Given the description of an element on the screen output the (x, y) to click on. 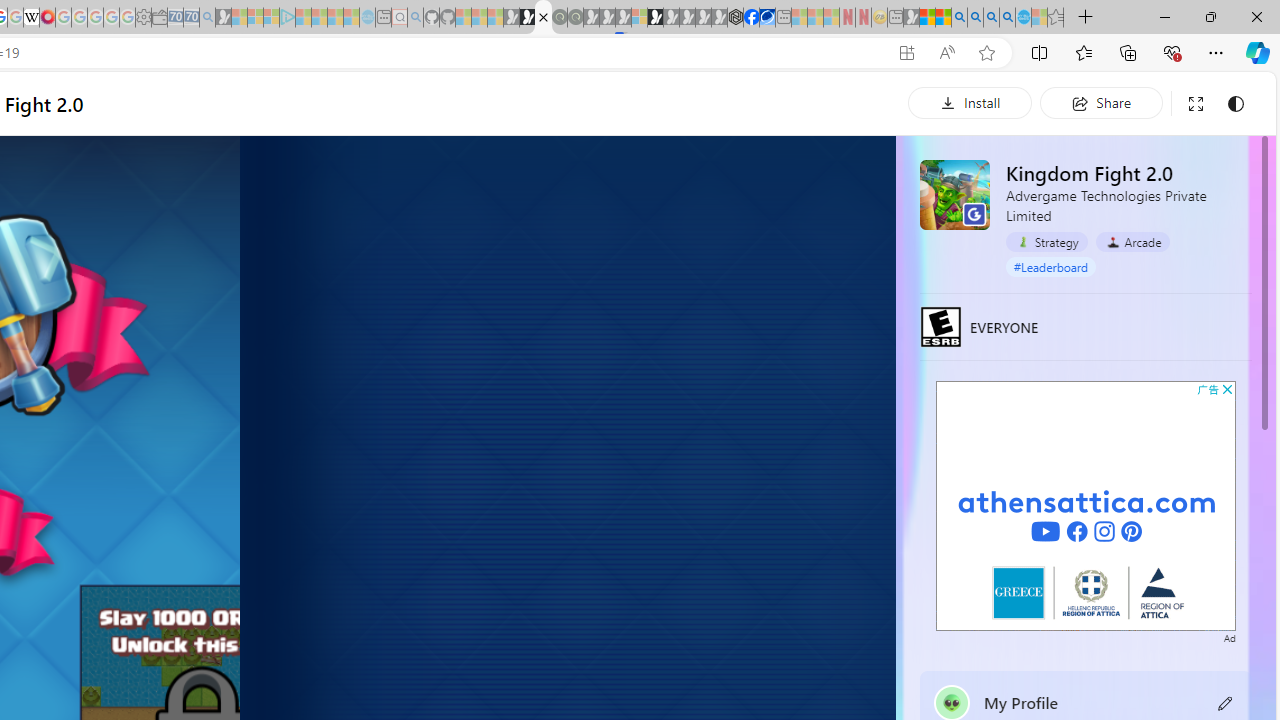
MediaWiki (47, 17)
Nordace - Cooler Bags (735, 17)
Install (970, 102)
Nordace | Facebook (751, 17)
""'s avatar (952, 702)
Microsoft account | Privacy - Sleeping (271, 17)
Advertisement (1085, 505)
